Given the description of an element on the screen output the (x, y) to click on. 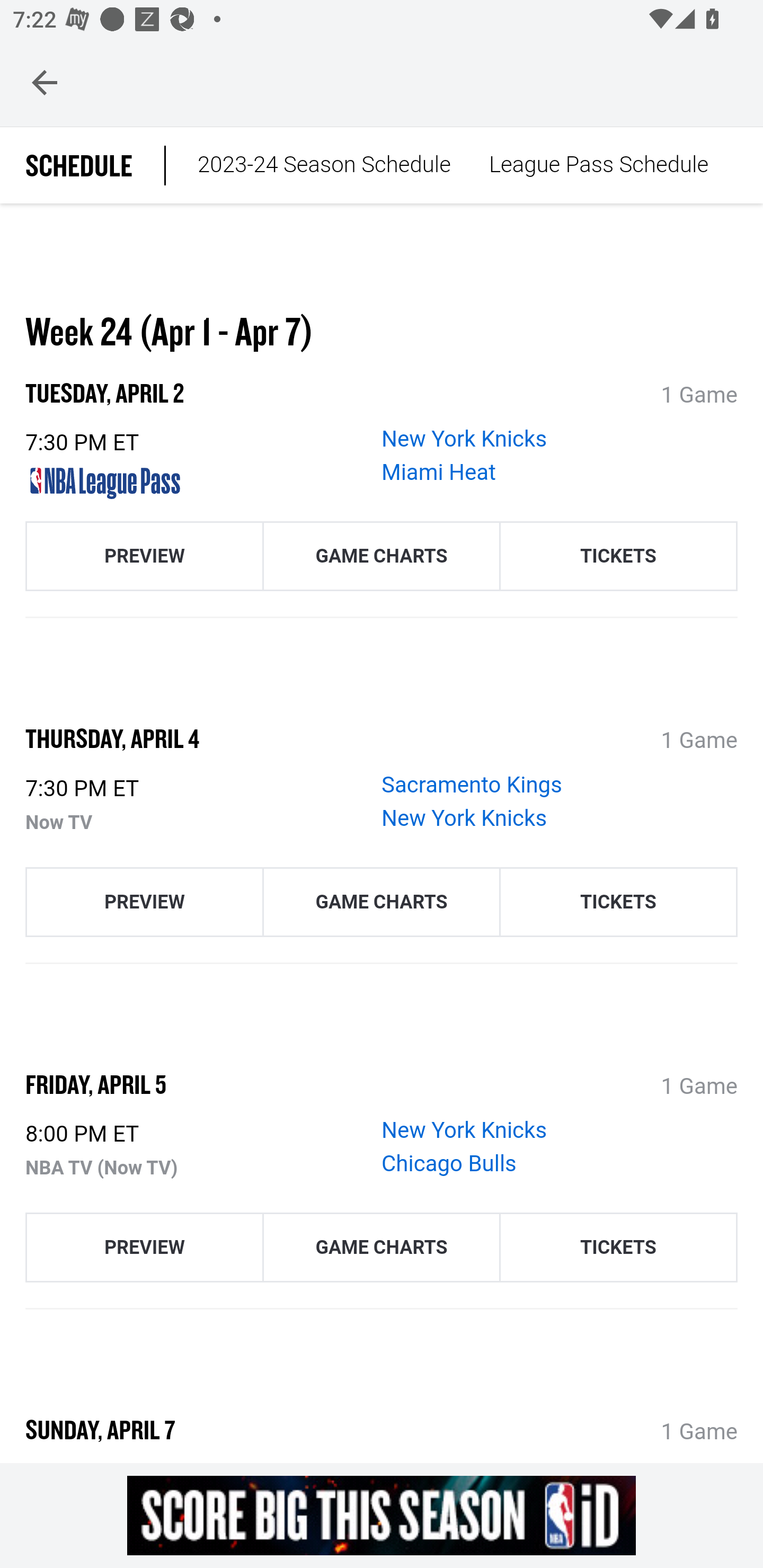
Navigate up (44, 82)
2023-24 Season Schedule (323, 166)
League Pass Schedule (598, 166)
New York Knicks (464, 440)
Miami Heat (438, 473)
league-pass-stream (196, 483)
PREVIEW (144, 556)
GAME CHARTS (381, 556)
TICKETS (618, 556)
Sacramento Kings (472, 785)
New York Knicks (464, 818)
PREVIEW (144, 901)
GAME CHARTS (381, 901)
TICKETS (618, 901)
New York Knicks (464, 1131)
Chicago Bulls (448, 1164)
PREVIEW (144, 1247)
GAME CHARTS (381, 1247)
TICKETS (618, 1247)
g5nqqygr7owph (381, 1515)
